Given the description of an element on the screen output the (x, y) to click on. 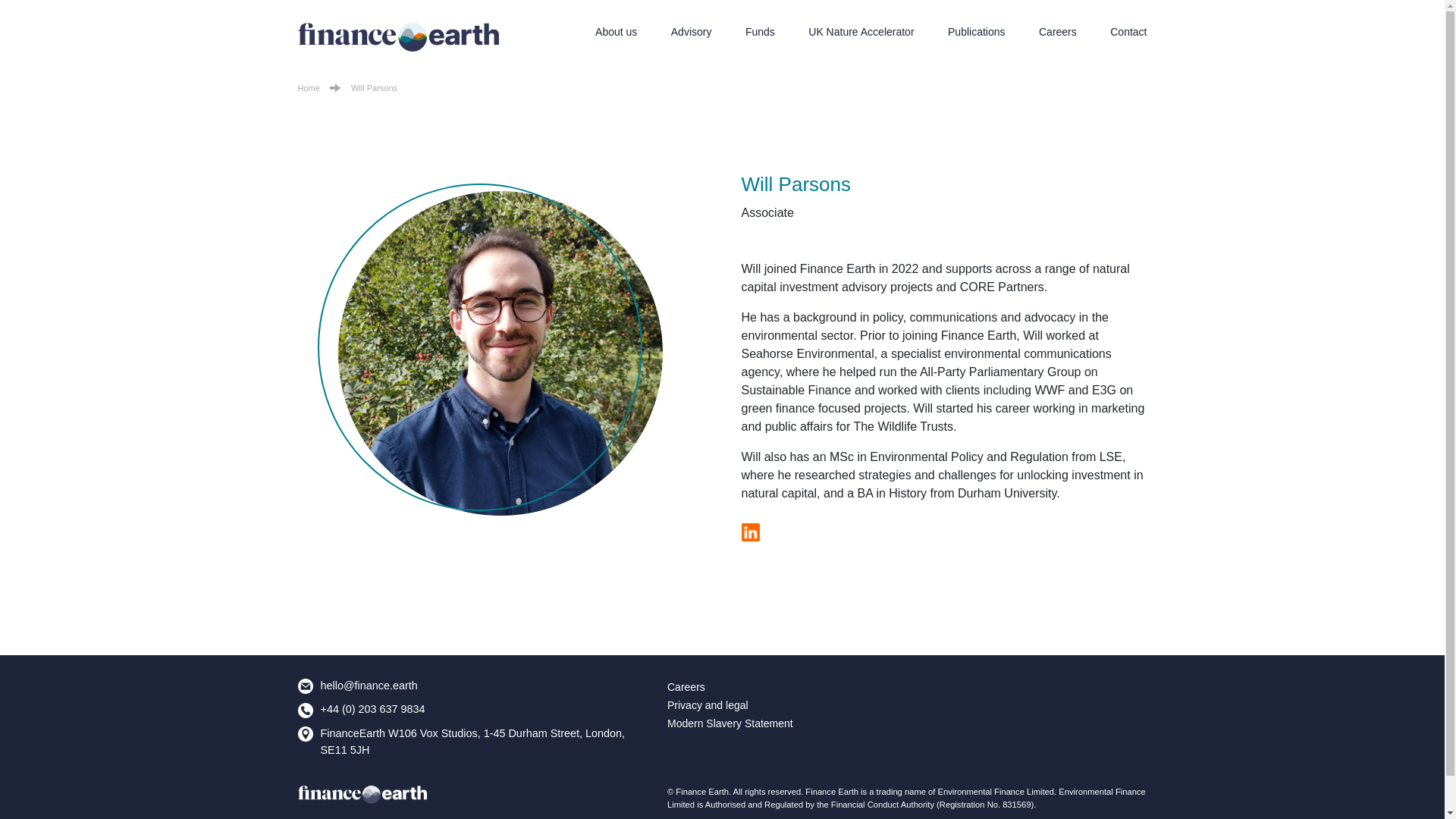
Advisory (691, 31)
Contact (1128, 31)
Careers (1058, 31)
Privacy and legal (707, 705)
Address (305, 734)
Publications (976, 31)
Telephone (305, 710)
Home (307, 87)
Careers (685, 686)
Modern Slavery Statement (729, 723)
About us (616, 31)
UK Nature Accelerator (861, 31)
Funds (759, 31)
Finance Earth (361, 794)
Email (305, 685)
